Given the description of an element on the screen output the (x, y) to click on. 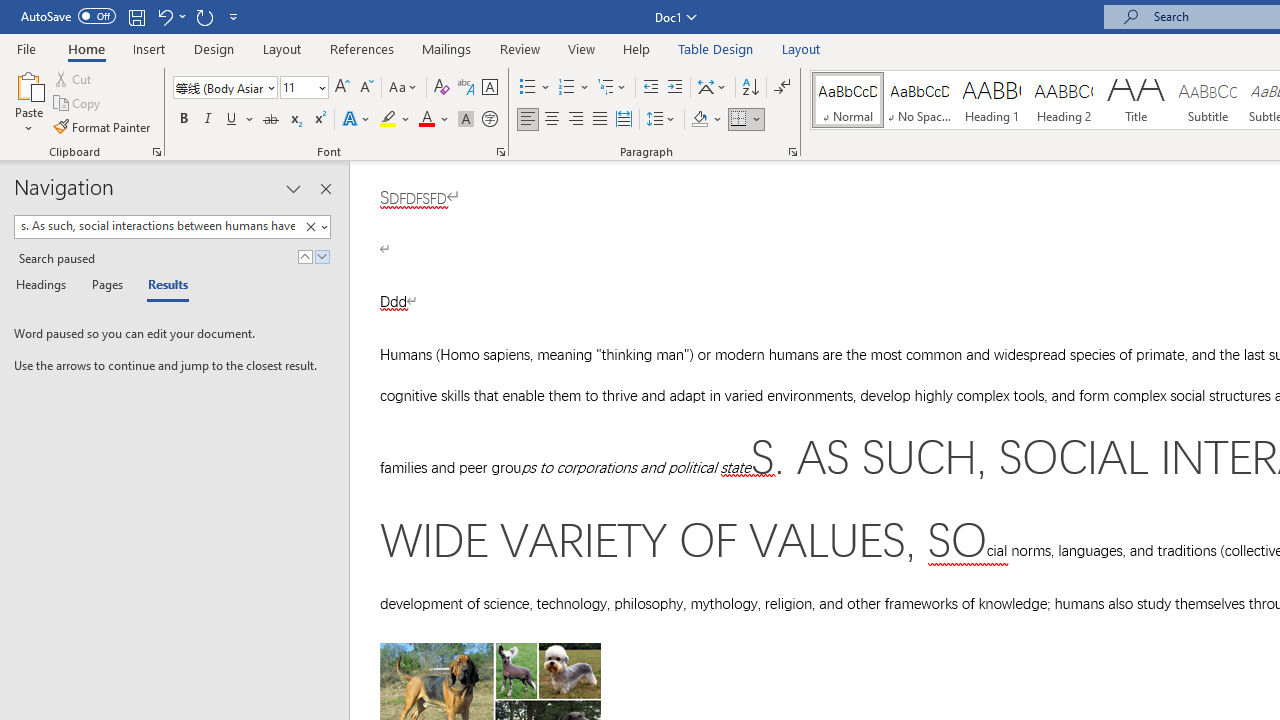
Undo Style (164, 15)
